Given the description of an element on the screen output the (x, y) to click on. 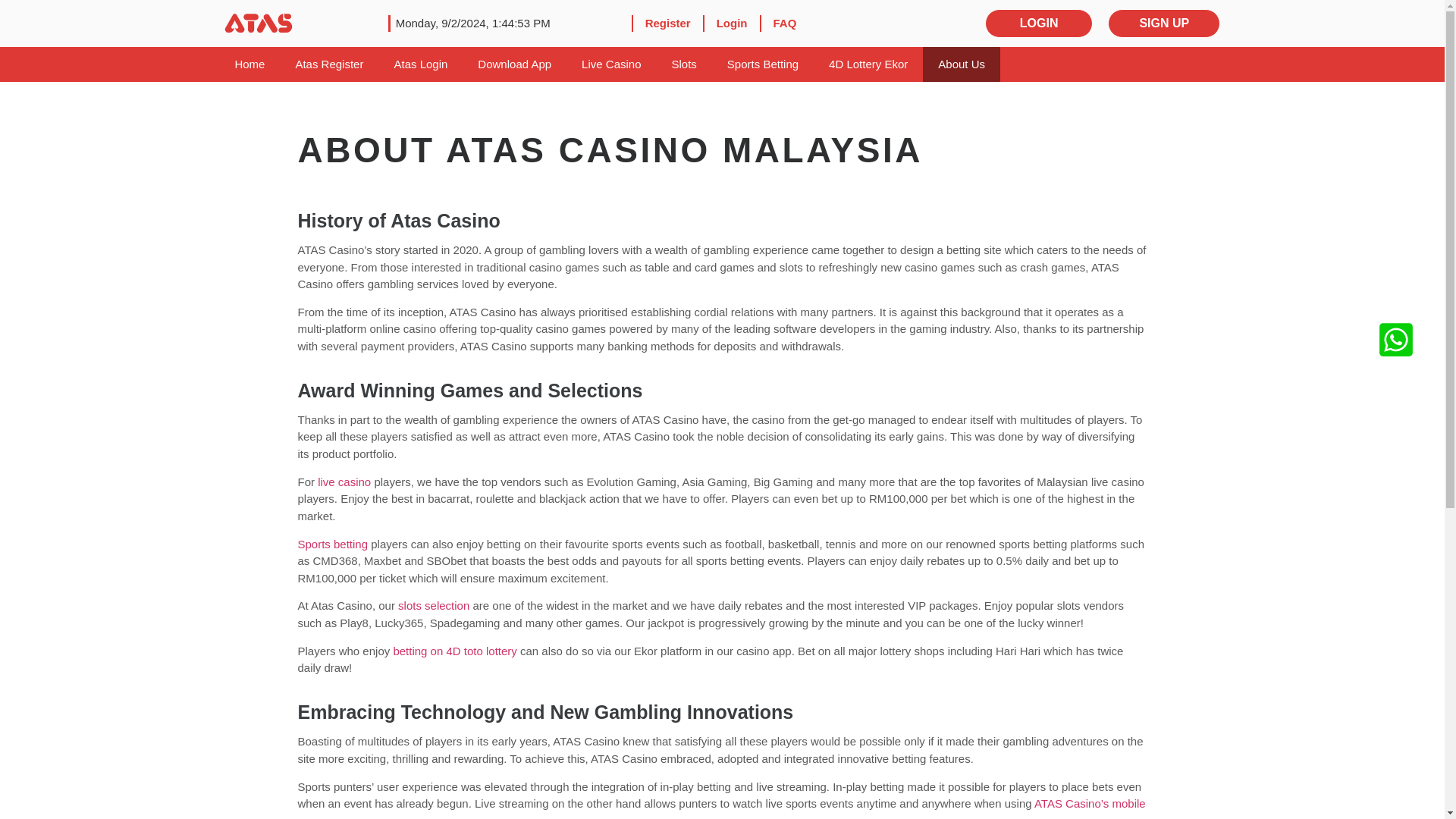
Home (249, 63)
Sports Betting (762, 63)
Login (732, 23)
slots selection (432, 604)
Register (668, 23)
LOGIN (1039, 23)
Live Casino (611, 63)
SIGN UP (1164, 23)
Slots (683, 63)
Sports betting (332, 543)
